Given the description of an element on the screen output the (x, y) to click on. 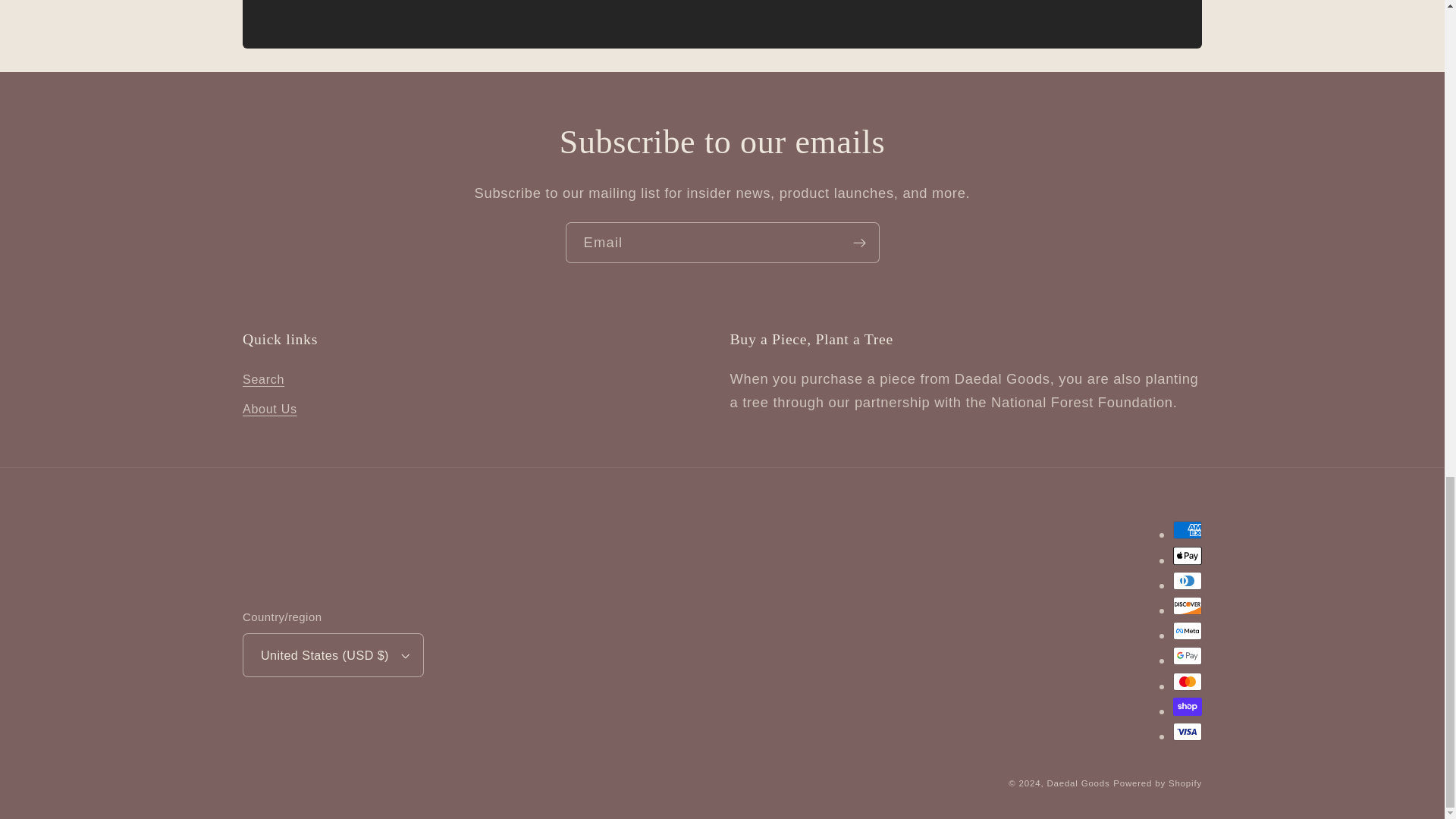
Apple Pay (1187, 555)
American Express (1187, 529)
Discover (1187, 606)
Meta Pay (1187, 630)
Diners Club (1187, 580)
